Given the description of an element on the screen output the (x, y) to click on. 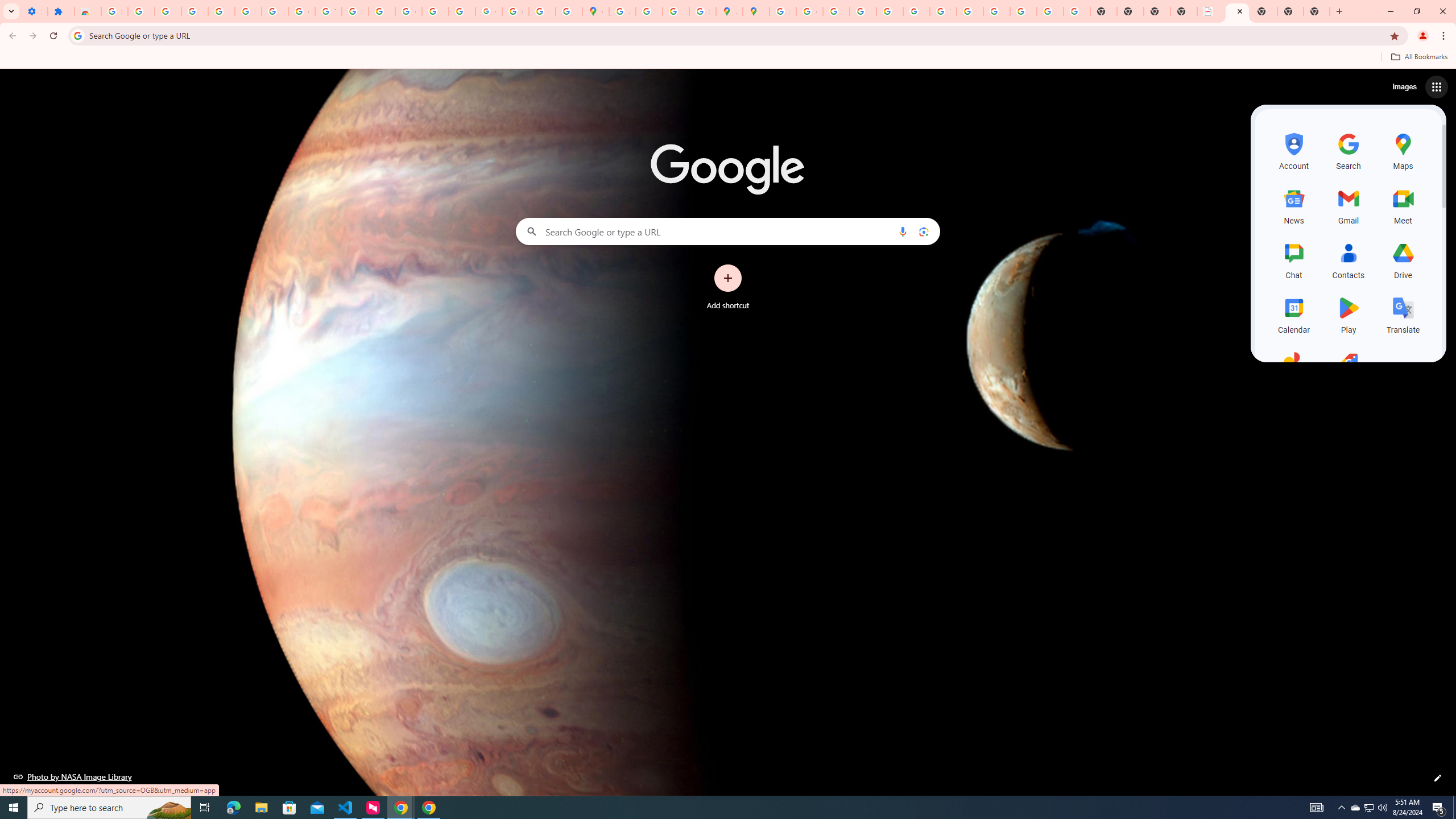
Meet, row 2 of 5 and column 3 of 3 in the first section (1402, 204)
Bookmarks (728, 58)
Calendar, row 4 of 5 and column 1 of 3 in the first section (1293, 313)
https://scholar.google.com/ (382, 11)
New Tab (1290, 11)
Play, row 4 of 5 and column 2 of 3 in the first section (1348, 313)
Search, row 1 of 5 and column 2 of 3 in the first section (1348, 149)
Account, row 1 of 5 and column 1 of 3 in the first section (1293, 149)
Google Account (301, 11)
YouTube (943, 11)
